Given the description of an element on the screen output the (x, y) to click on. 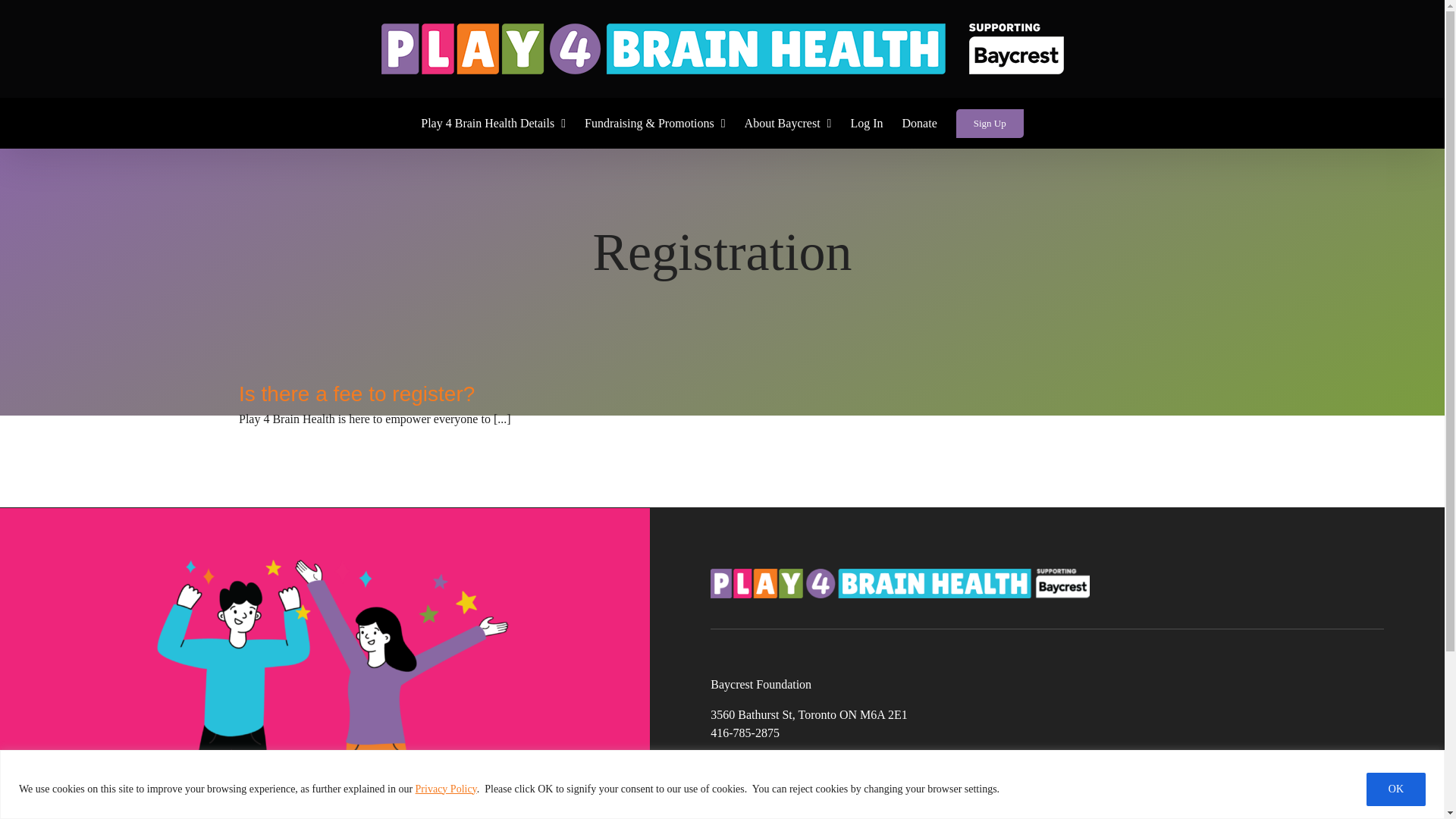
Privacy Policy (445, 787)
Play 4 Brain Health Details (493, 123)
B4BHlocked (899, 582)
Sign Up (989, 123)
About Baycrest (787, 123)
OK (1396, 788)
